Given the description of an element on the screen output the (x, y) to click on. 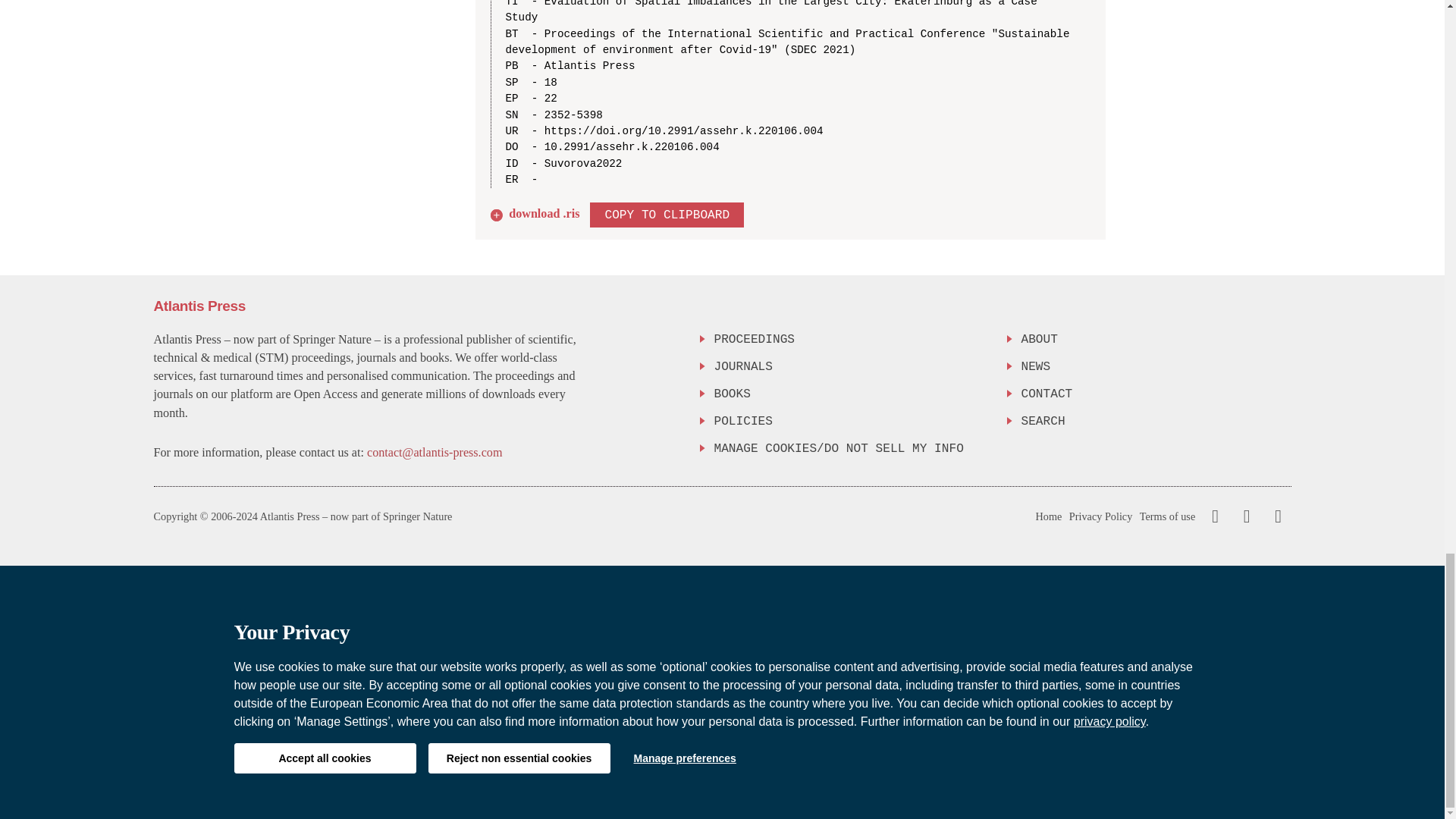
Twitter (1243, 516)
Facebook (1215, 516)
LinkedIn (1275, 516)
